Given the description of an element on the screen output the (x, y) to click on. 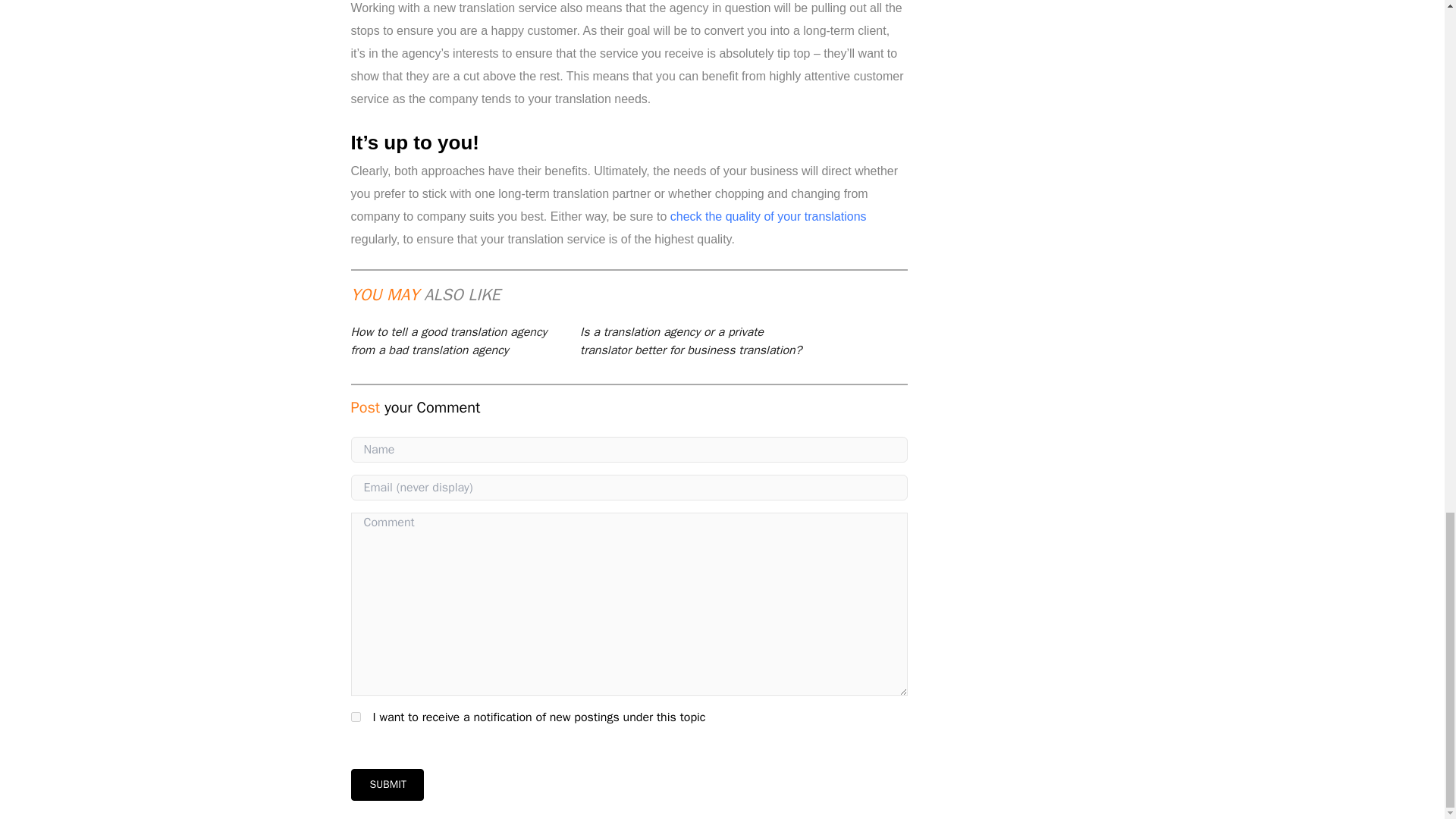
check the quality of your translations (767, 215)
on (354, 716)
SUBMIT (386, 784)
